Given the description of an element on the screen output the (x, y) to click on. 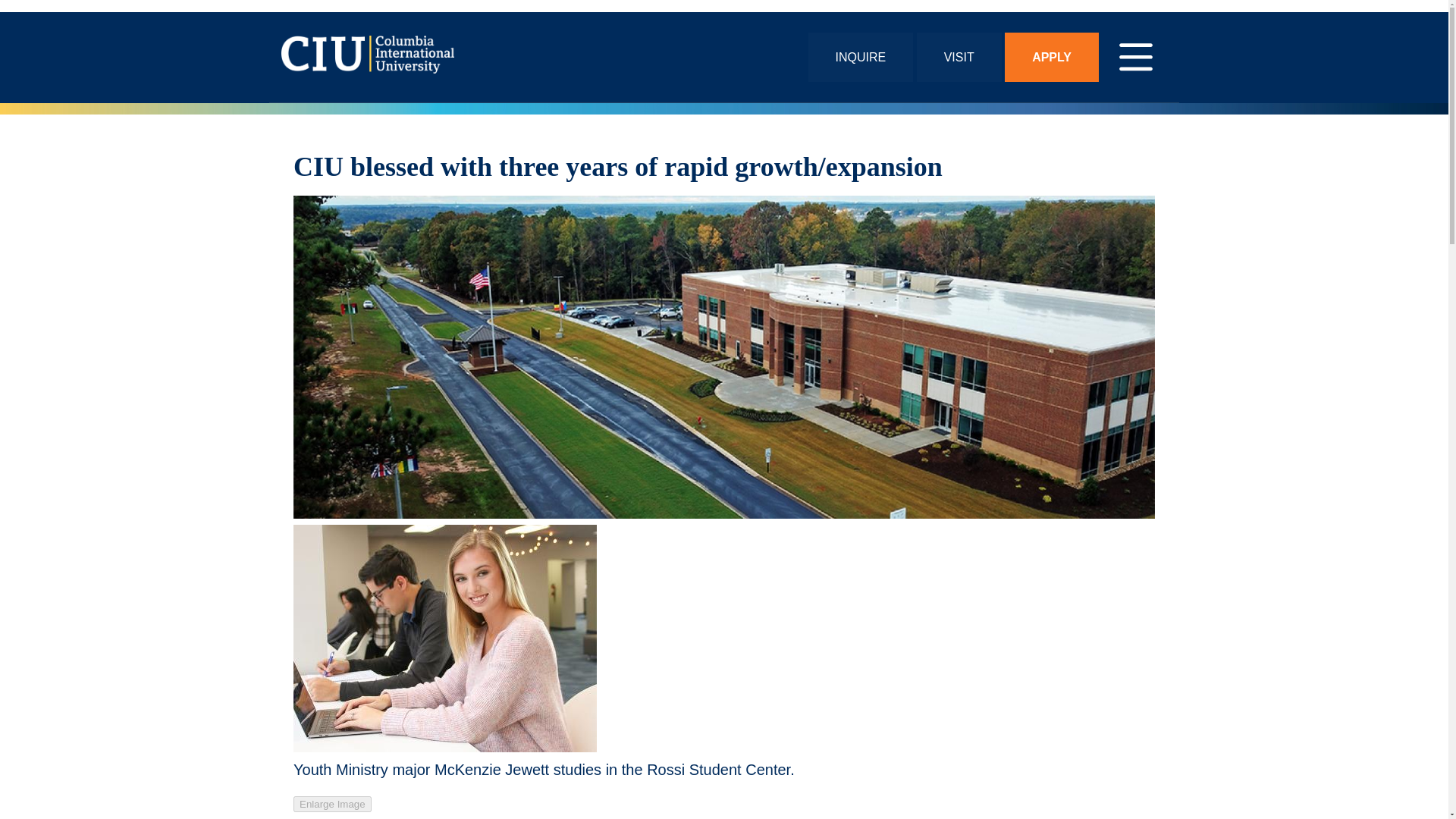
INQUIRE (861, 57)
APPLY (1051, 57)
VISIT (959, 57)
Enlarge Image (332, 804)
